Given the description of an element on the screen output the (x, y) to click on. 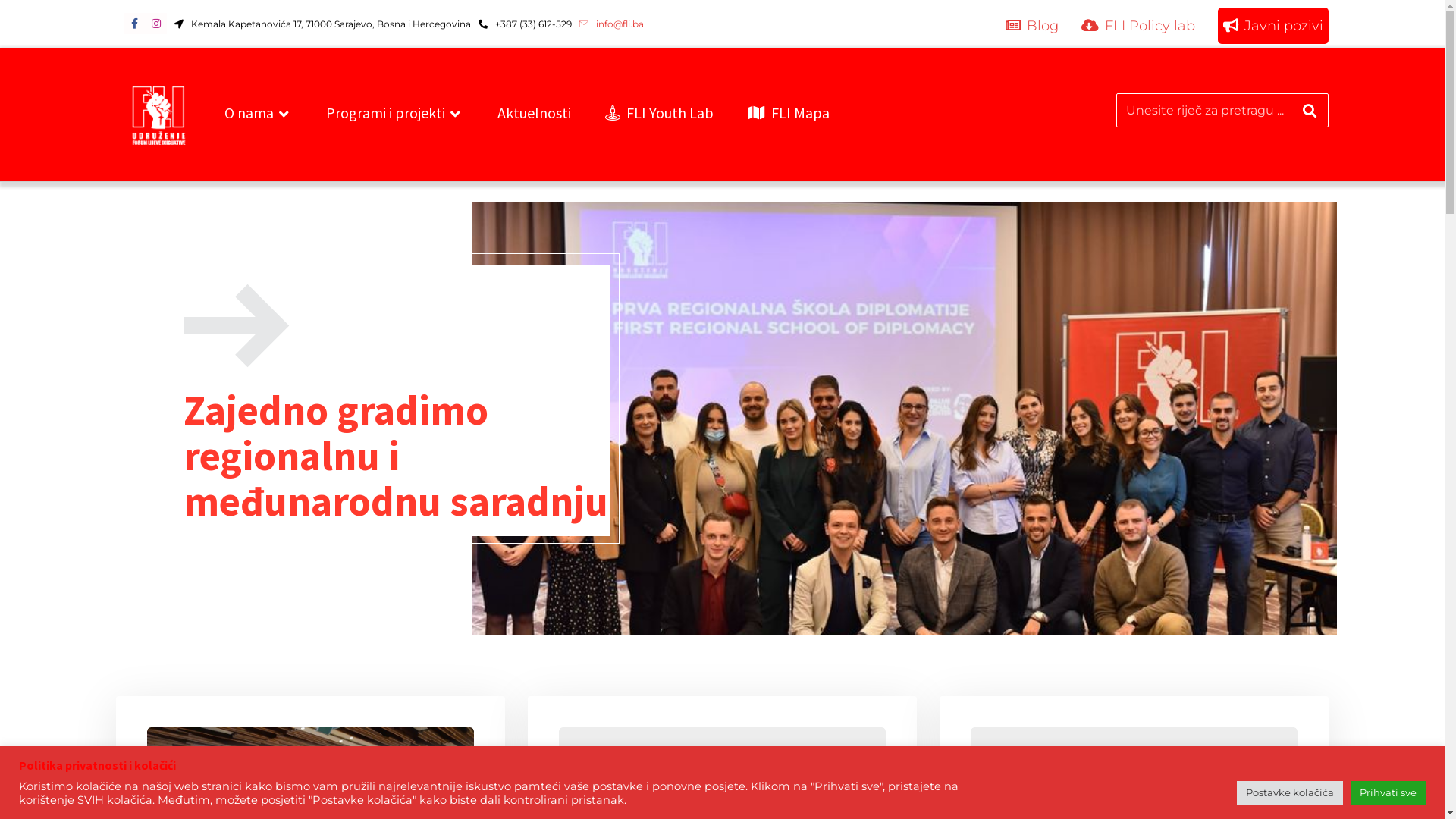
info@fli.ba Element type: text (611, 22)
Blog Element type: text (1031, 25)
FLI Youth Lab Element type: text (659, 112)
FLI Mapa Element type: text (788, 112)
Aktuelnosti Element type: text (534, 112)
Javni pozivi Element type: text (1272, 25)
Prihvati sve Element type: text (1387, 792)
O nama Element type: text (257, 112)
FLI Policy lab Element type: text (1138, 25)
Programi i projekti Element type: text (394, 112)
